Given the description of an element on the screen output the (x, y) to click on. 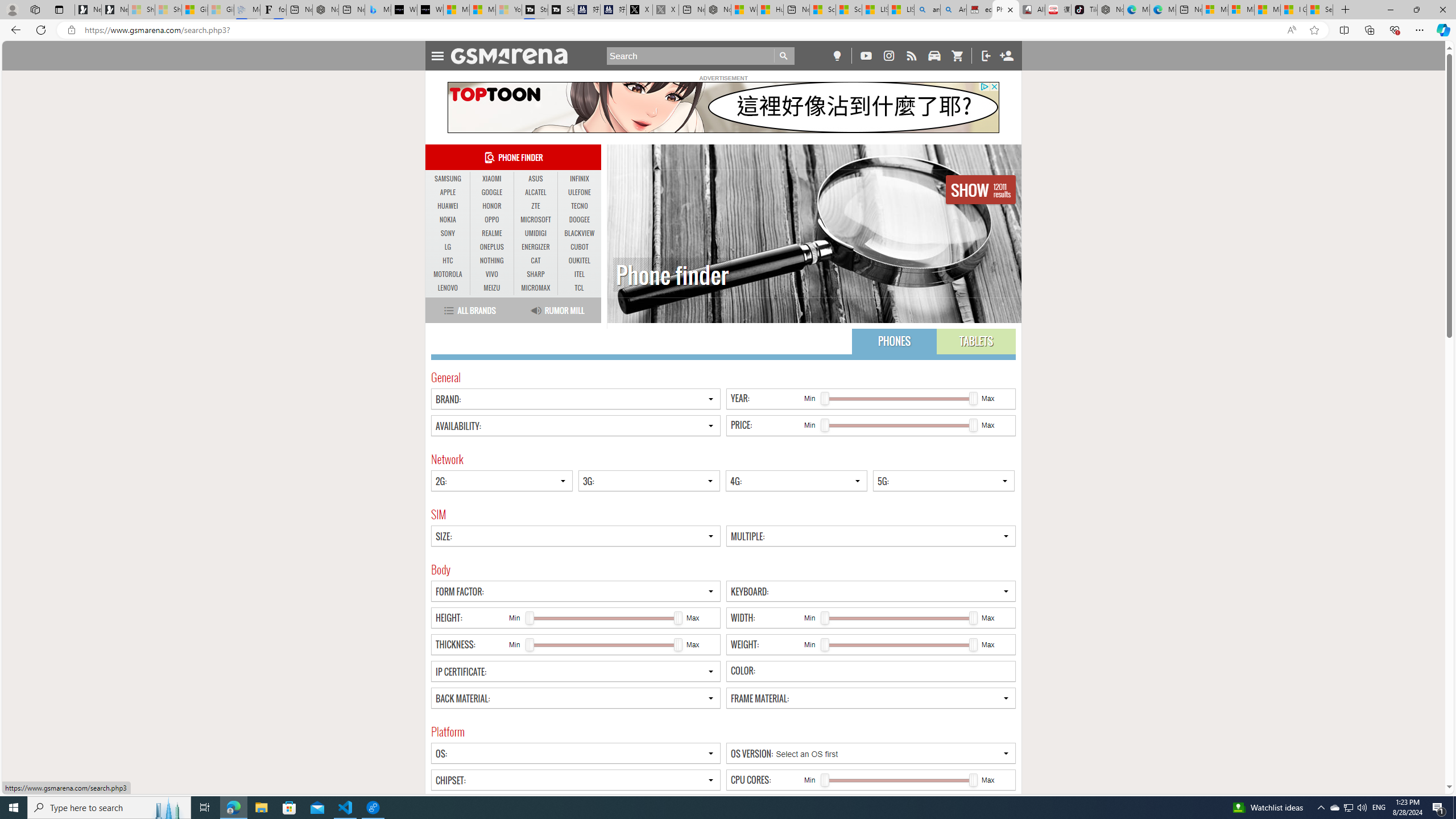
INFINIX (579, 178)
ITEL (579, 273)
ZTE (535, 205)
Nordace - My Account (717, 9)
UMIDIGI (535, 233)
ENERGIZER (535, 246)
OUKITEL (579, 260)
AutomationID: close_button_svg (994, 86)
